Given the description of an element on the screen output the (x, y) to click on. 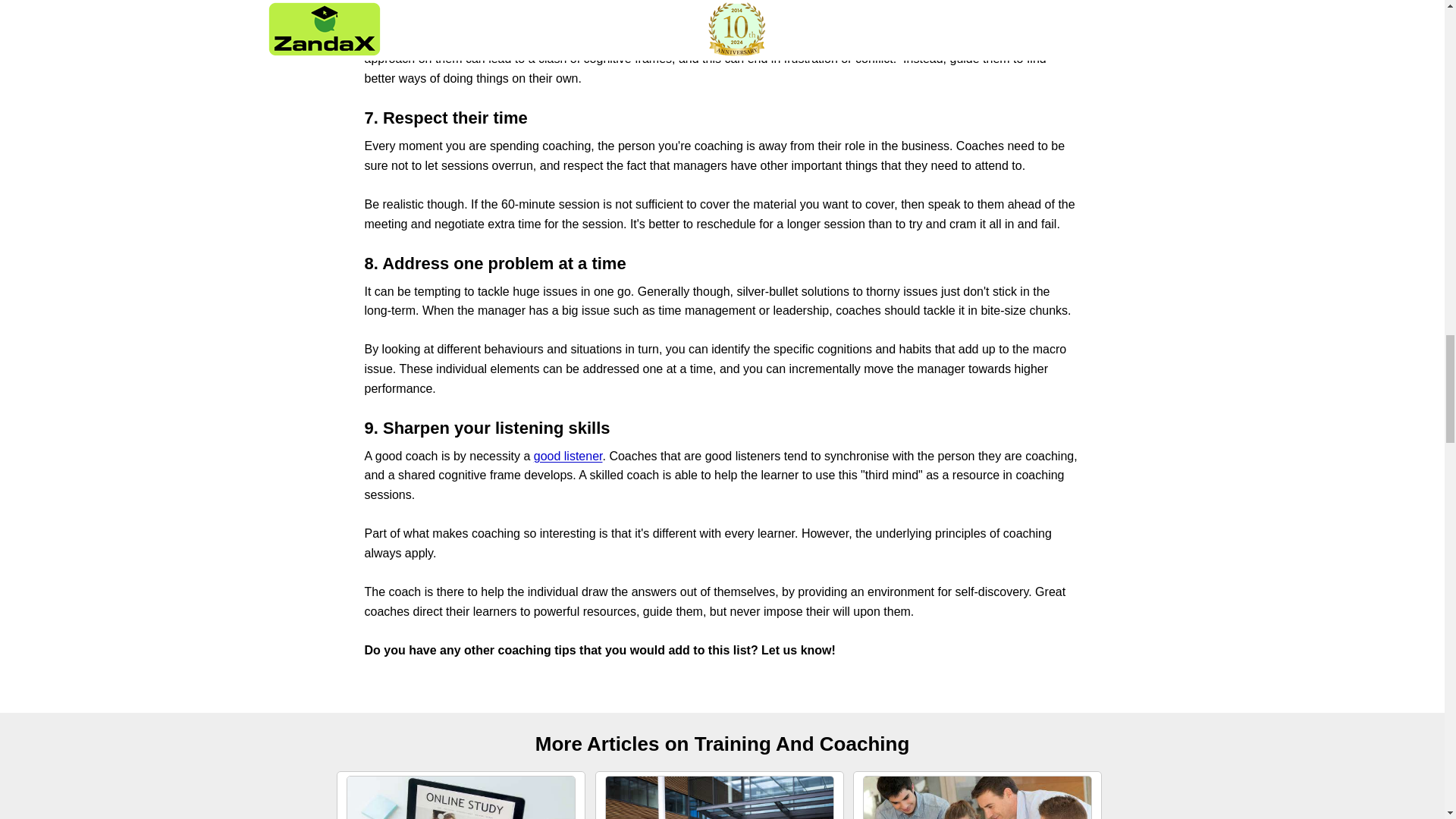
Good coaches (403, 19)
What makes a great coach? (403, 19)
10 Ways to Improve Your Listening Skills (568, 455)
good listener (568, 455)
